Given the description of an element on the screen output the (x, y) to click on. 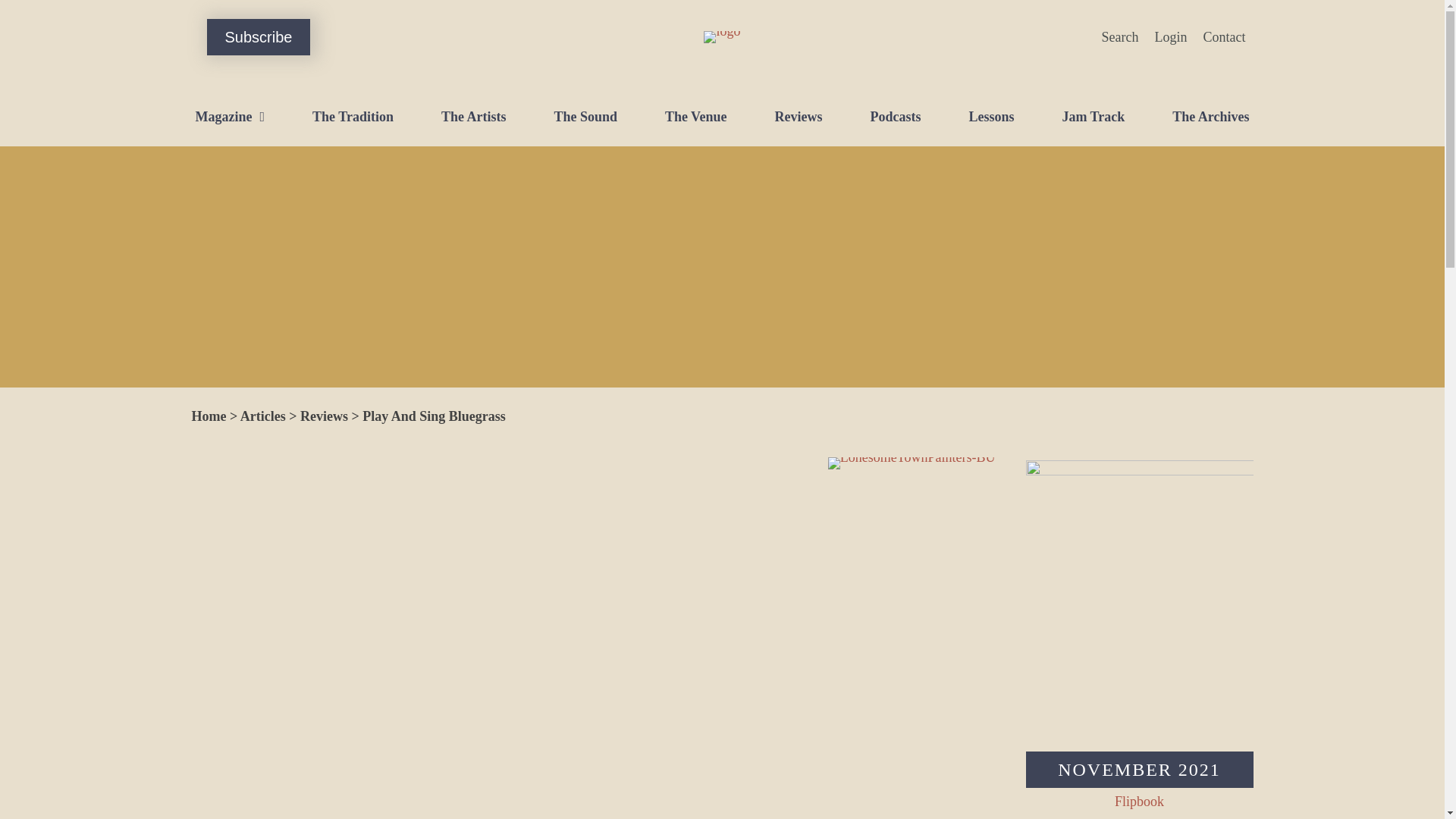
The Venue (695, 117)
logo (721, 37)
Magazine (229, 117)
The Tradition (353, 117)
Subscribe (258, 36)
The Sound (585, 117)
Reviews (798, 117)
Podcasts (894, 117)
Contact (1223, 36)
Search (1120, 36)
Login (1170, 36)
LonesomeTownPainters-BU (911, 463)
The Artists (473, 117)
